Given the description of an element on the screen output the (x, y) to click on. 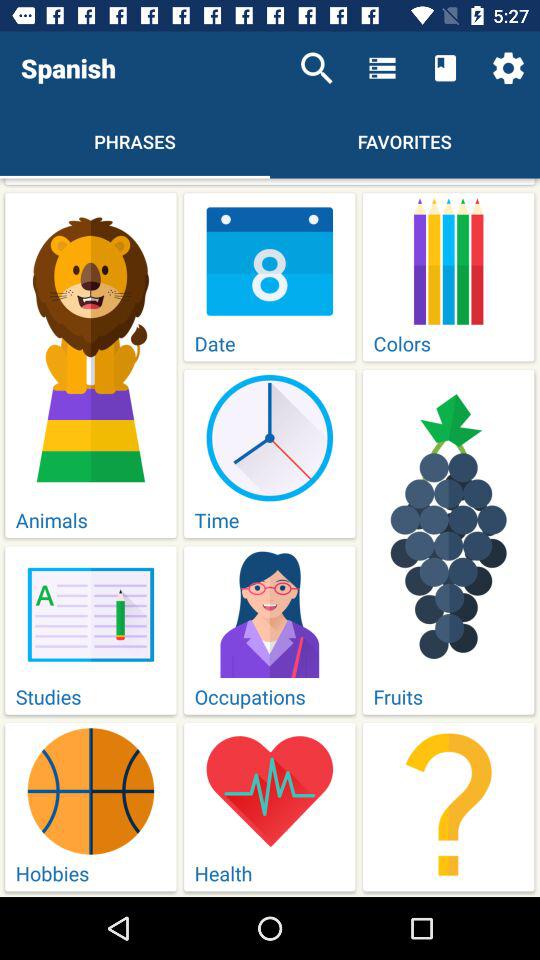
press the icon to the right of spanish (316, 67)
